Given the description of an element on the screen output the (x, y) to click on. 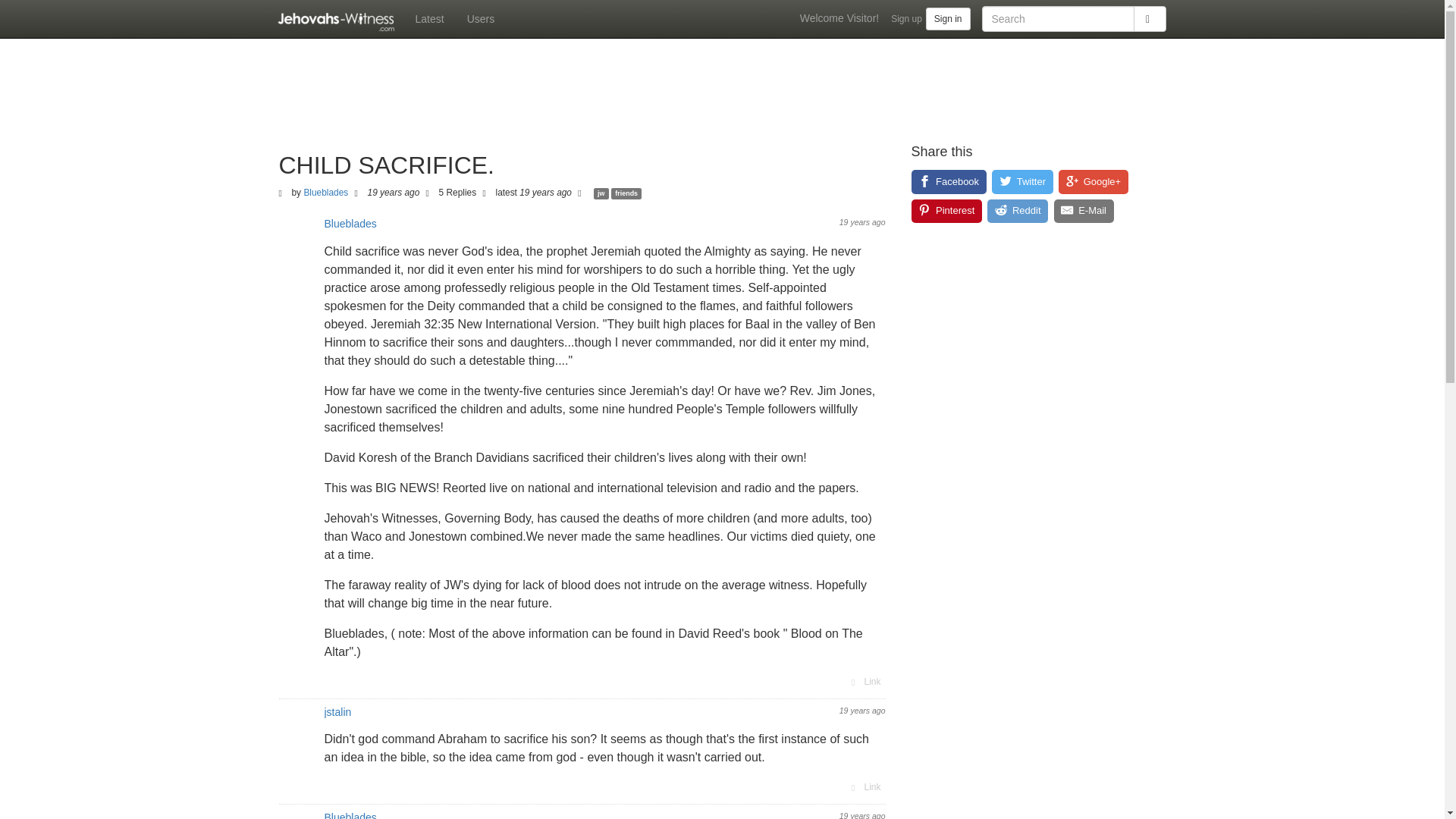
Blueblades (324, 192)
jstalin (338, 711)
Pinterest (946, 211)
E-Mail (1083, 211)
Fri, Dec 16 2005, 12:21:00 (545, 192)
Link (864, 786)
Thu, Dec 15 2005, 11:27:00 (394, 192)
Sign in (948, 18)
Latest (428, 18)
Twitter (1021, 181)
